Given the description of an element on the screen output the (x, y) to click on. 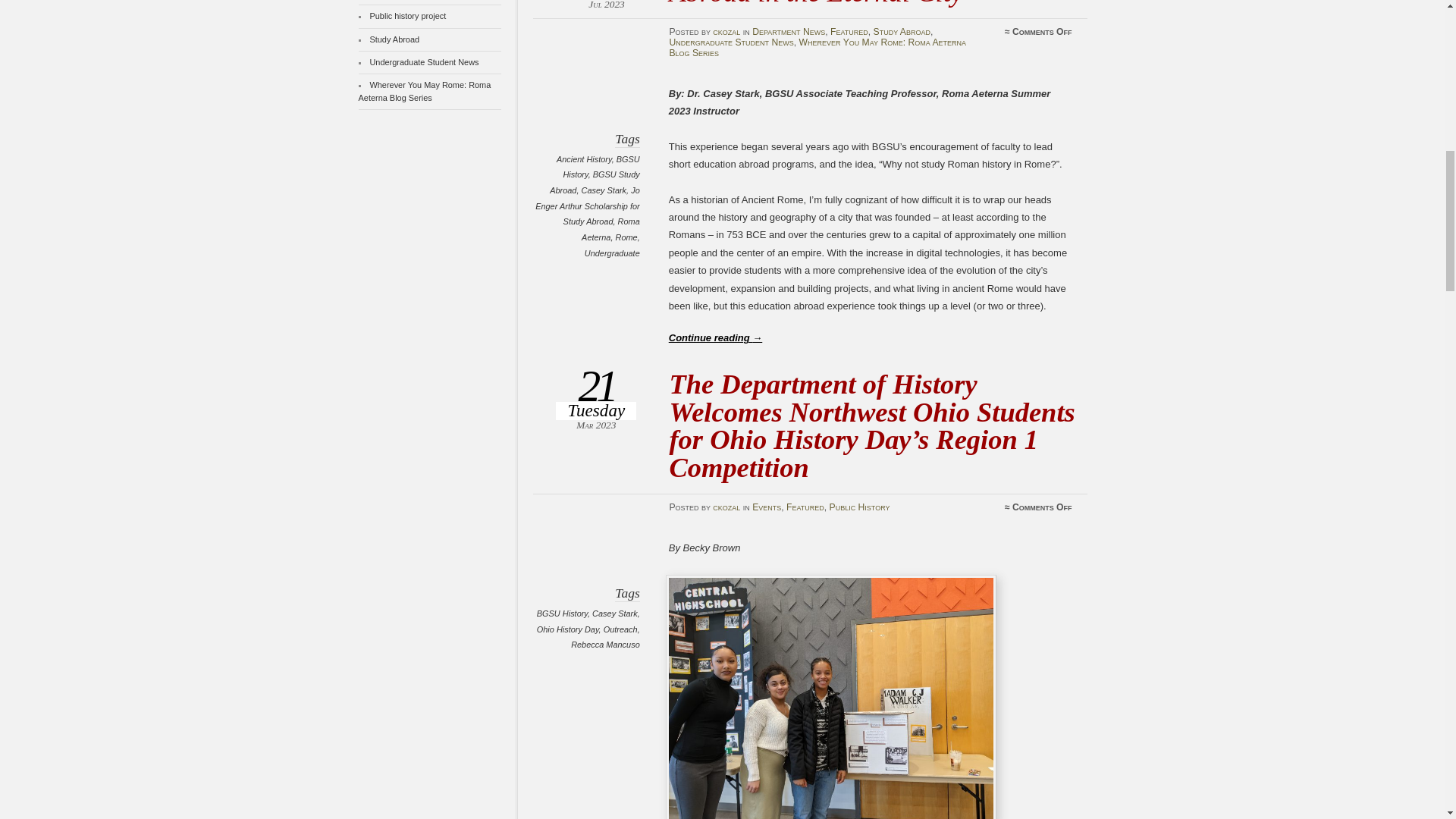
ckozal (726, 31)
Undergraduate (612, 252)
Department News (788, 31)
View all posts by ckozal (726, 507)
Roma Aeterna (610, 229)
BGSU Study Abroad (595, 181)
Rome (626, 236)
Wherever you may Rome: Education Abroad in the Eternal City  (871, 3)
Wherever You May Rome: Roma Aeterna Blog Series (817, 47)
Featured (848, 31)
Undergraduate Student News (730, 41)
Featured (805, 507)
Events (766, 507)
Ancient History (583, 158)
Jo Enger Arthur Scholarship for Study Abroad (587, 205)
